Given the description of an element on the screen output the (x, y) to click on. 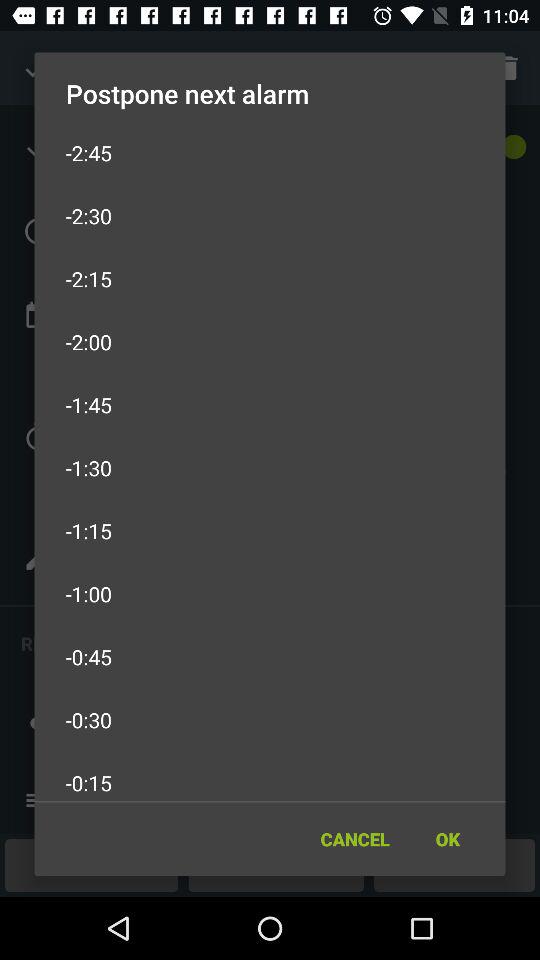
select the icon below the -0:15  item (447, 838)
